Given the description of an element on the screen output the (x, y) to click on. 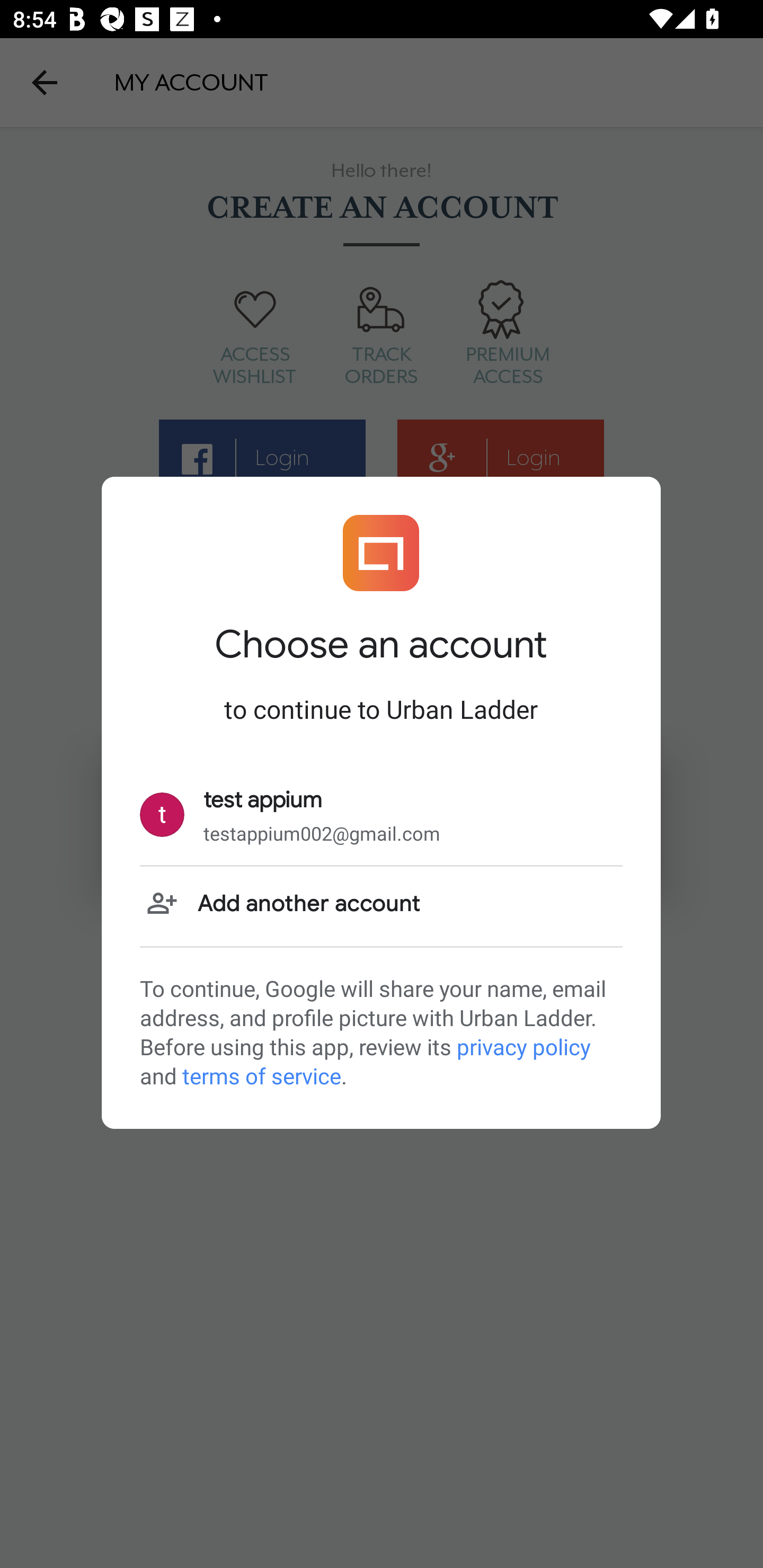
test appium testappium002@gmail.com (380, 815)
Add another account (380, 905)
